Given the description of an element on the screen output the (x, y) to click on. 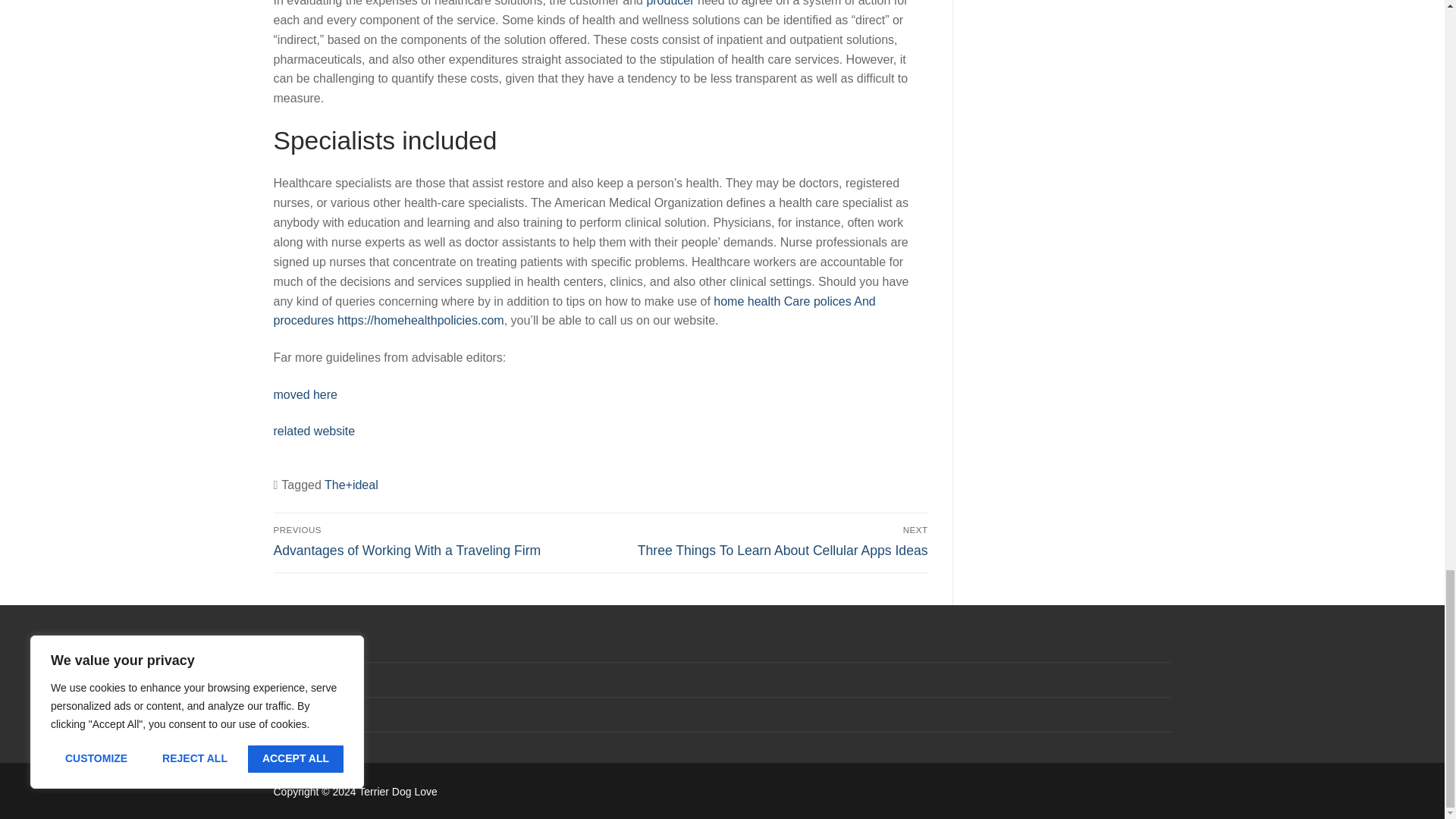
producer (670, 3)
related website (314, 431)
moved here (305, 394)
